Given the description of an element on the screen output the (x, y) to click on. 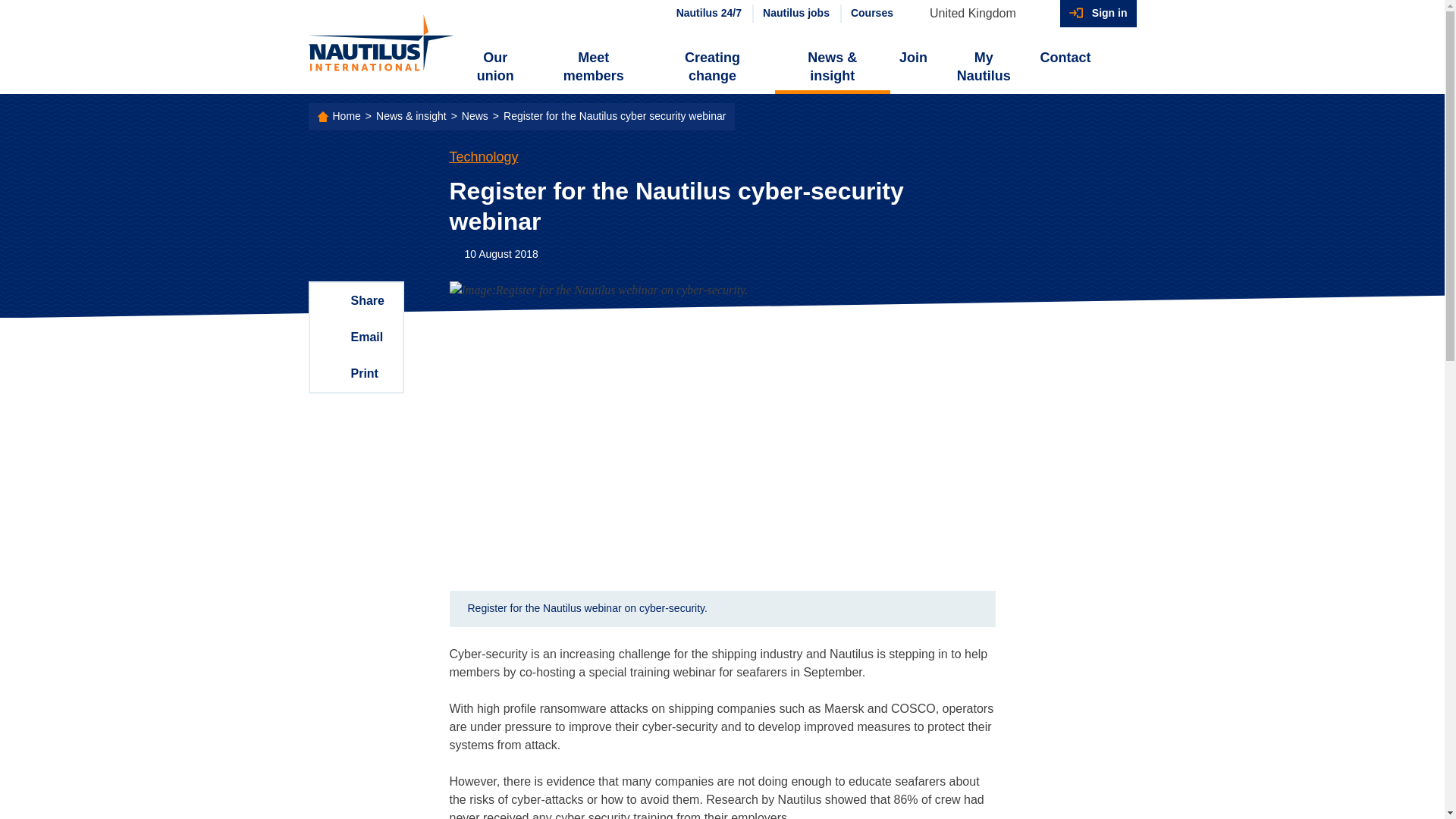
United Kingdom (979, 13)
Join (912, 58)
Courses (871, 13)
Creating change (711, 67)
My Nautilus (983, 67)
Sign in (1098, 13)
Meet members (593, 67)
Nautilus jobs (795, 13)
Our union (495, 67)
Contact (1065, 58)
